Given the description of an element on the screen output the (x, y) to click on. 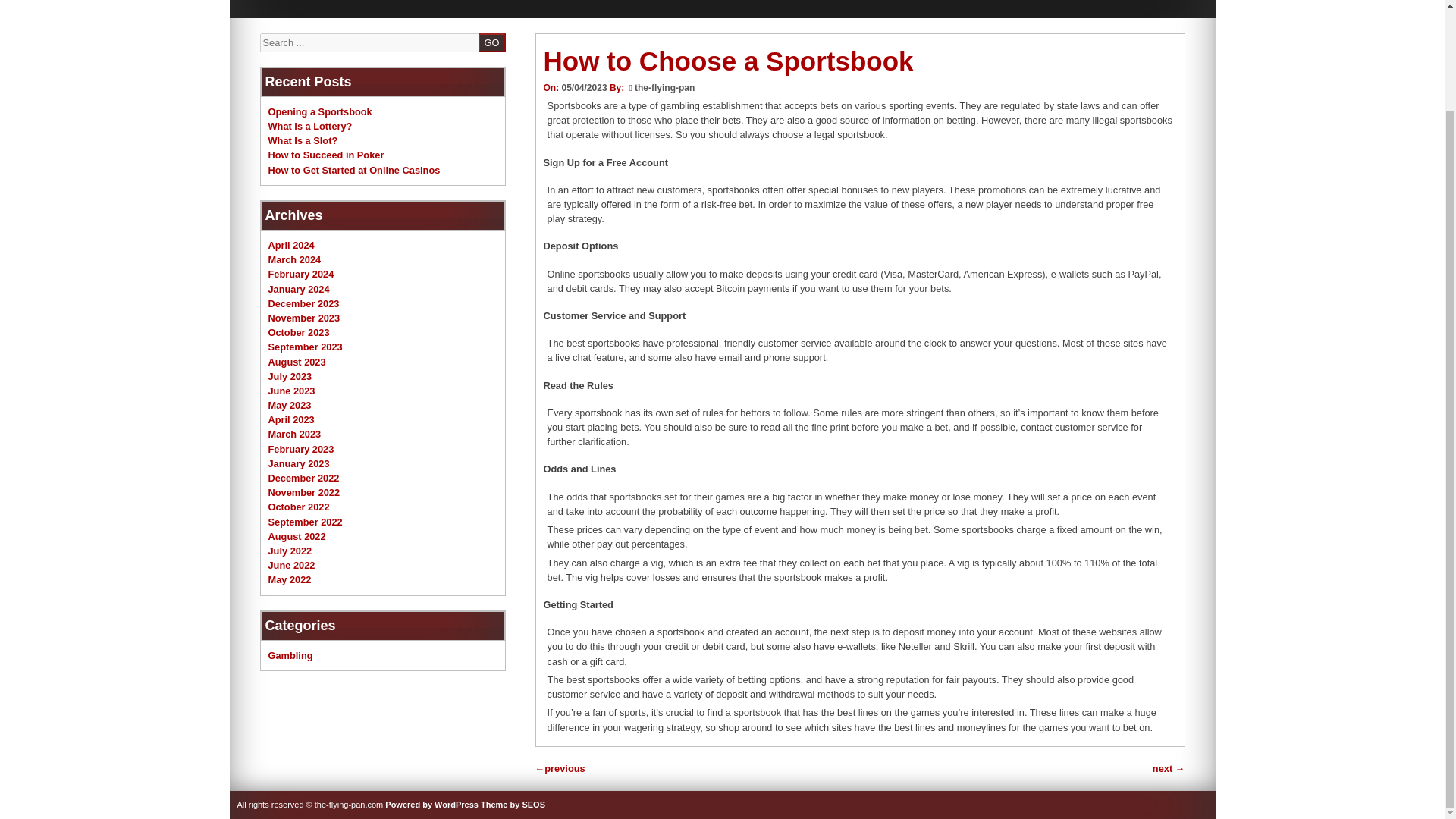
What is a Lottery? (309, 125)
August 2023 (296, 360)
June 2023 (291, 390)
May 2023 (289, 405)
October 2022 (298, 506)
the-flying-pan (664, 87)
Opening a Sportsbook (319, 111)
July 2023 (290, 376)
October 2023 (298, 332)
GO (492, 41)
